Given the description of an element on the screen output the (x, y) to click on. 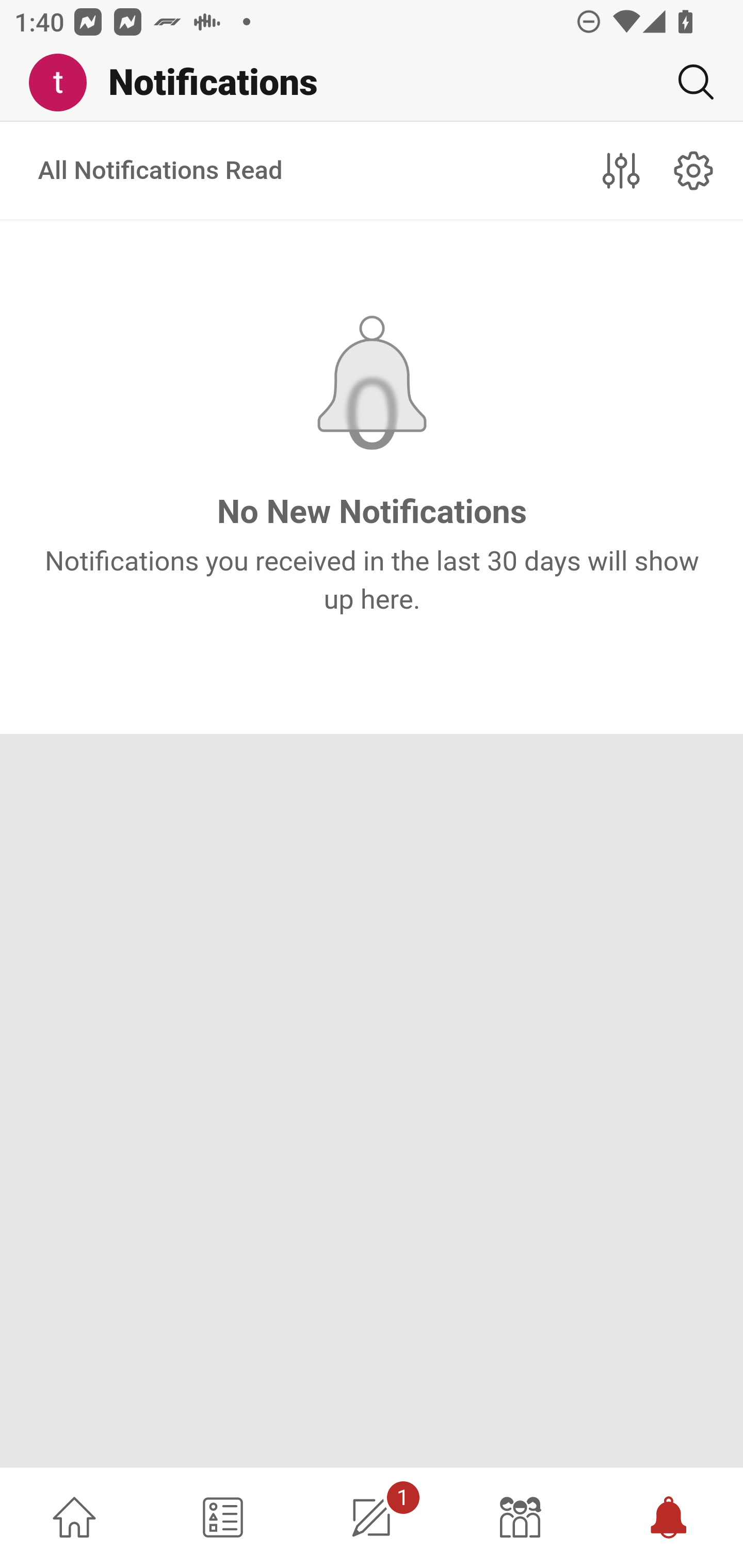
Me (64, 83)
Search (688, 82)
All Notifications Read (160, 171)
notifications# (693, 170)
1 (371, 1517)
